Given the description of an element on the screen output the (x, y) to click on. 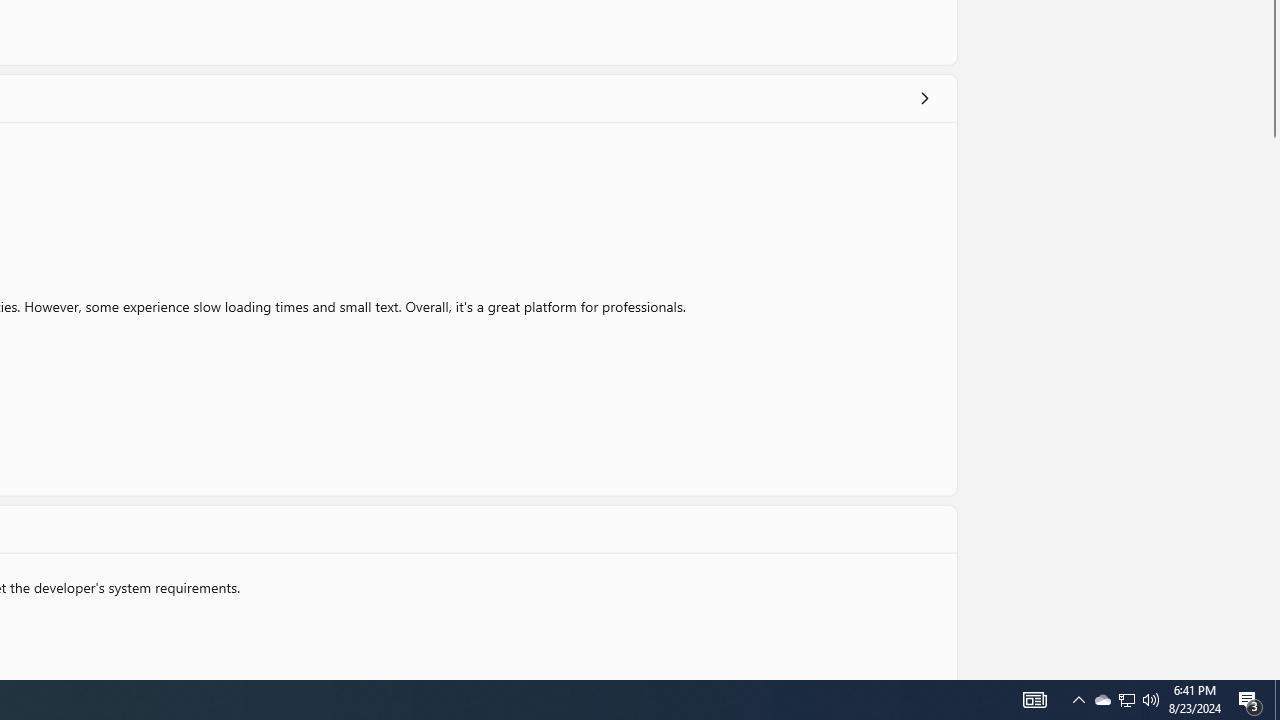
Vertical Large Increase (1272, 403)
Show all ratings and reviews (924, 97)
Vertical Small Increase (1272, 672)
